Given the description of an element on the screen output the (x, y) to click on. 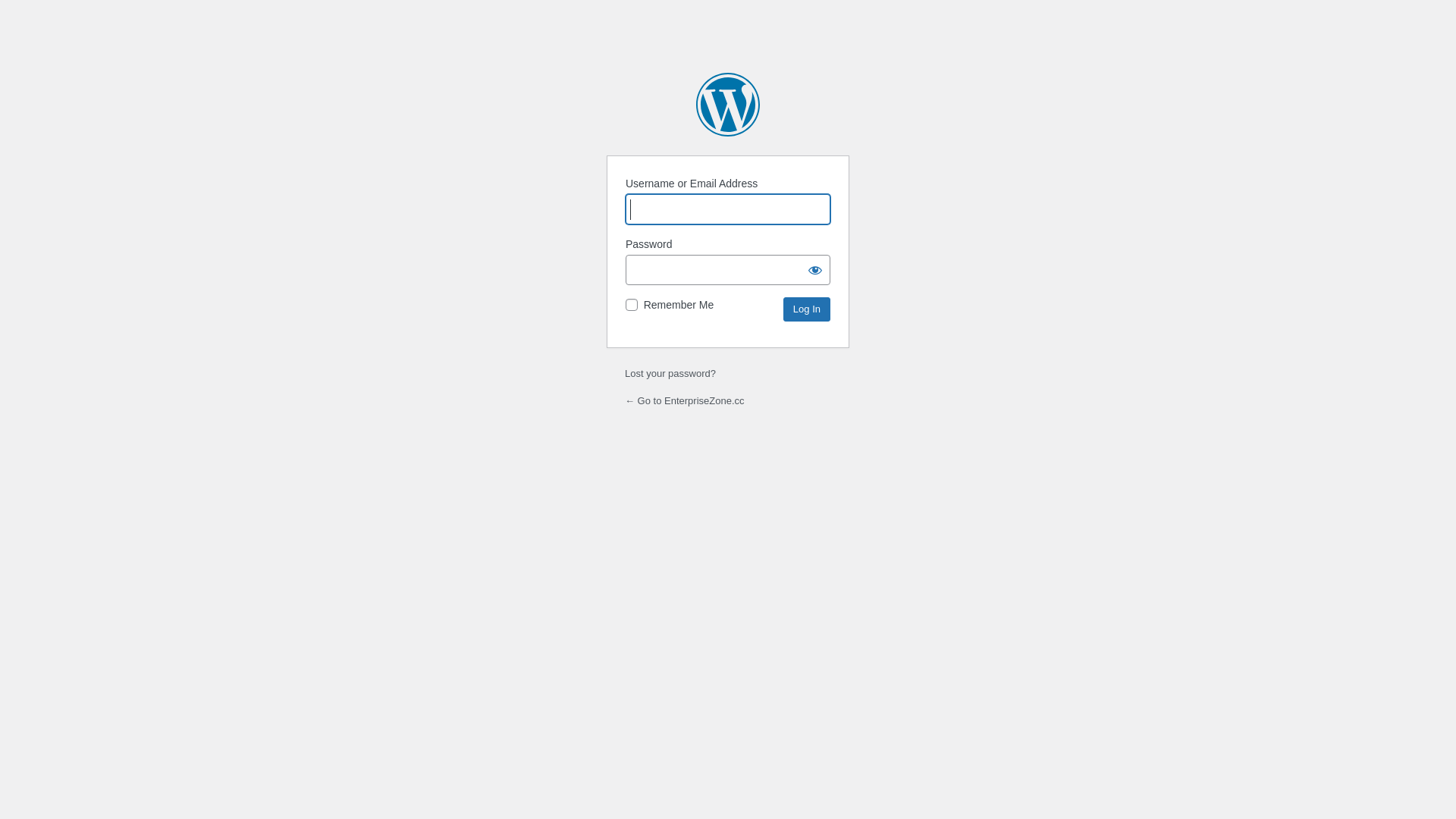
Log In Element type: text (806, 309)
Powered by WordPress Element type: text (727, 104)
Lost your password? Element type: text (669, 373)
